Given the description of an element on the screen output the (x, y) to click on. 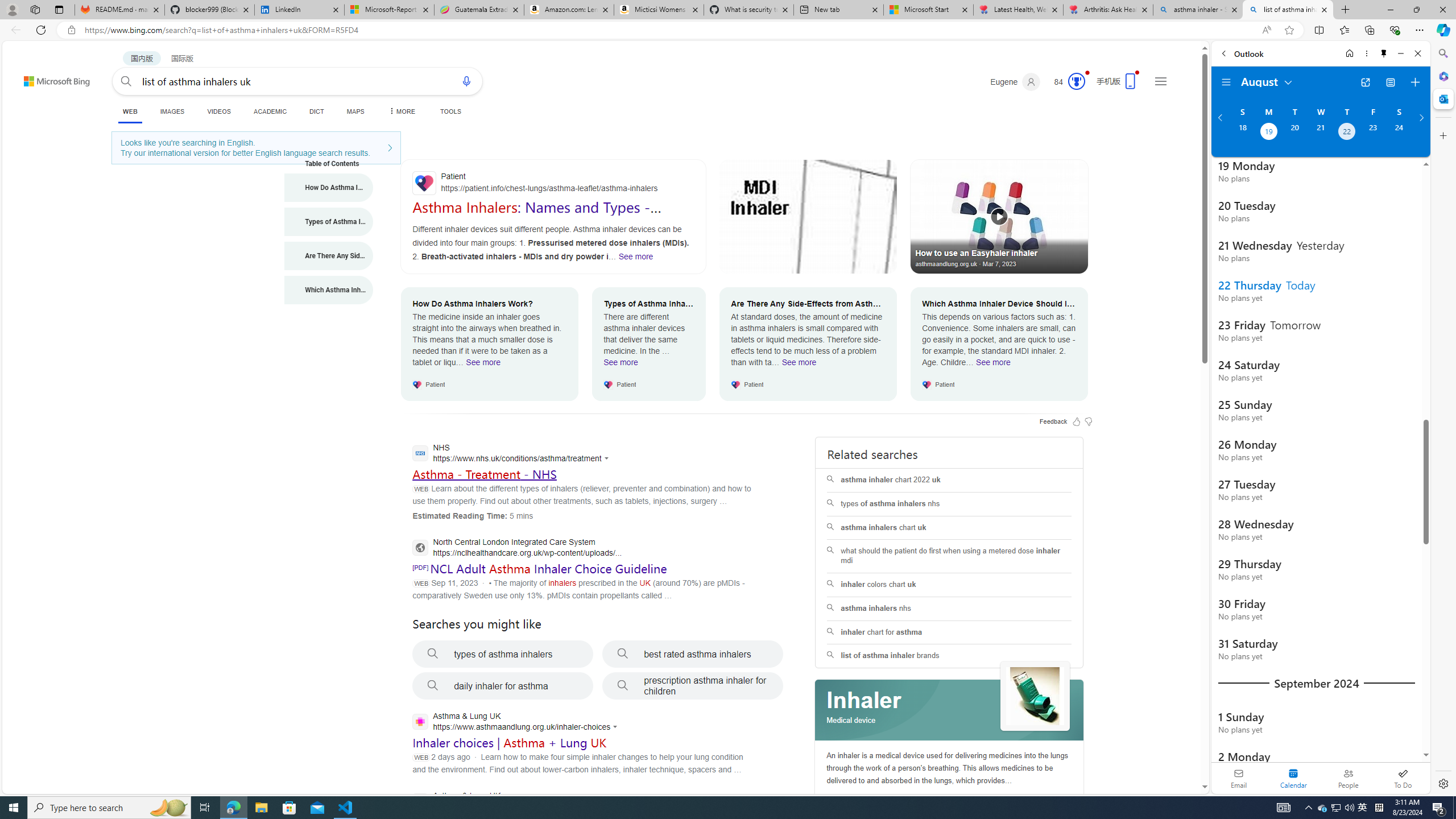
asthma inhalers nhs (949, 608)
Selected calendar module. Date today is 22 (1293, 777)
Types of Asthma Inhalers (328, 221)
MAPS (355, 111)
TOOLS (450, 111)
Which Asthma Inhaler Device Should I use? (328, 290)
